Given the description of an element on the screen output the (x, y) to click on. 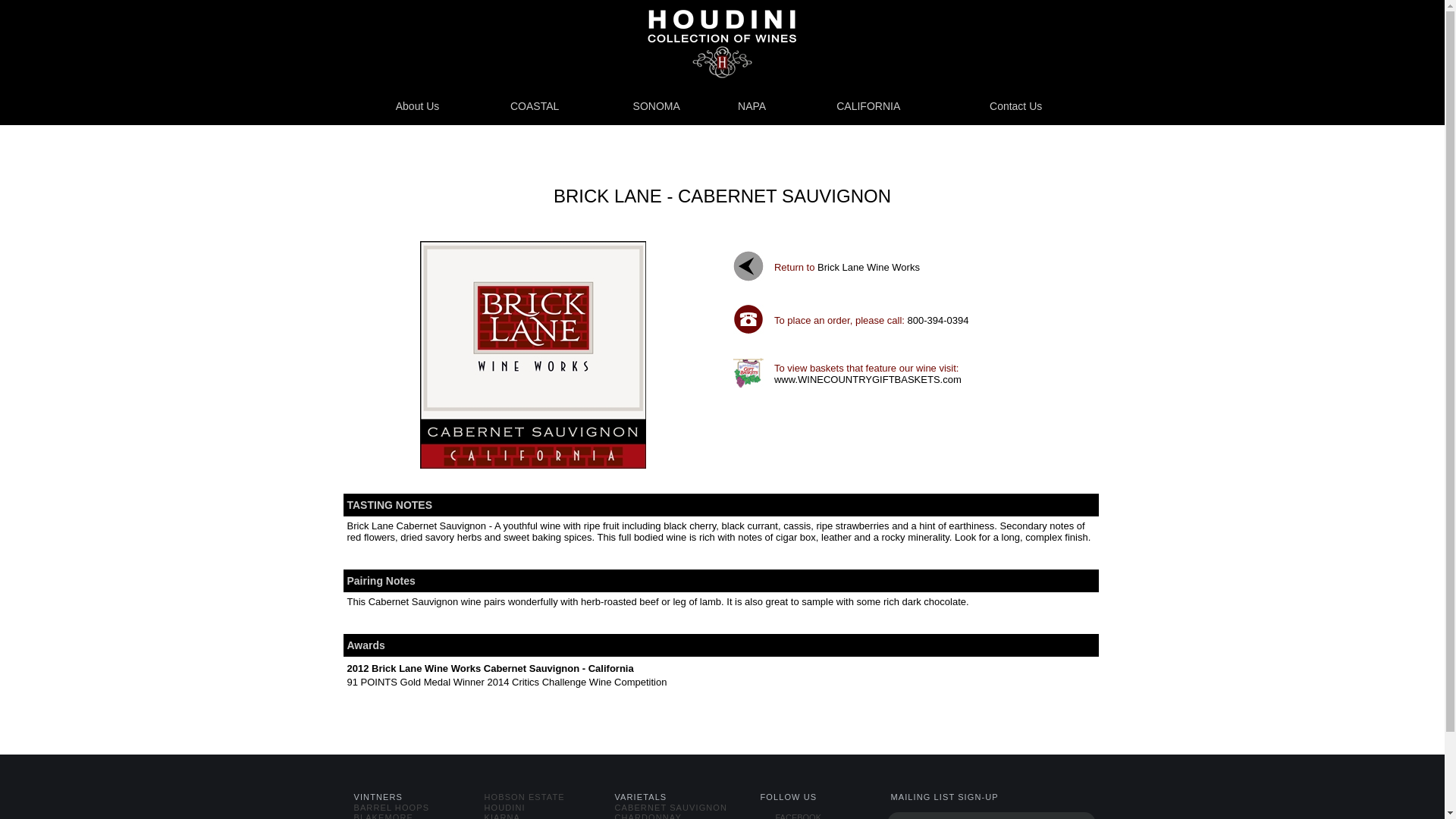
BLAKEMORE (382, 816)
800-394-0394 (938, 319)
Submit (1063, 815)
HOBSON ESTATE (523, 796)
CALIFORNIA (868, 106)
CHARDONNAY (647, 816)
Brick Lane Wine Works (868, 266)
KIARNA (501, 816)
HOUDINI WINES - Coastal (534, 106)
About Us (417, 106)
www.houdiniwines.com (722, 43)
CABERNET SAUVIGNON (670, 807)
BARREL HOOPS (391, 807)
www.WINECOUNTRYGIFTBASKETS.com (867, 384)
www.houdiniwines.com (722, 43)
